Given the description of an element on the screen output the (x, y) to click on. 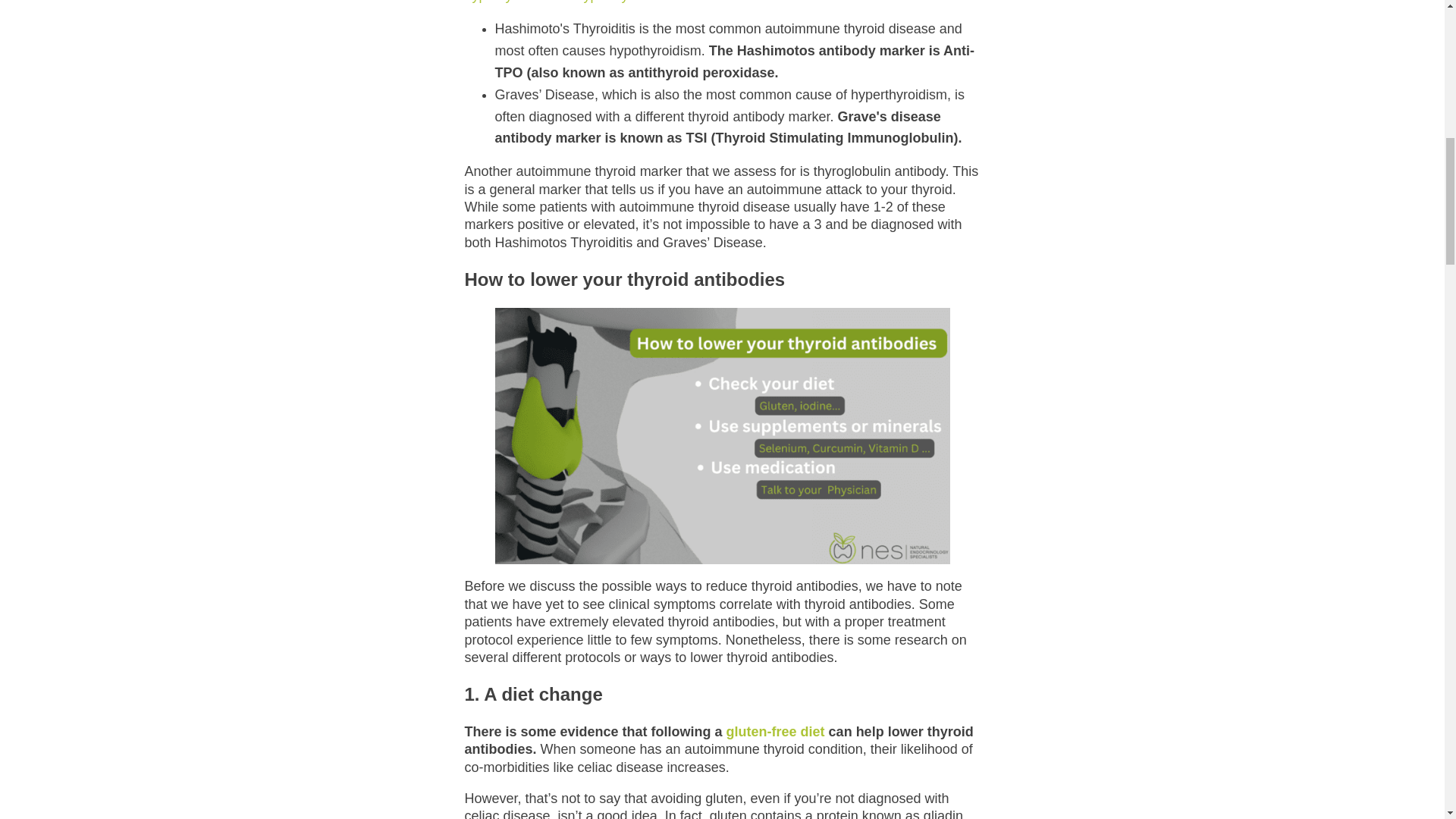
How to Lower Your Thyroid Antibodies (722, 435)
